Given the description of an element on the screen output the (x, y) to click on. 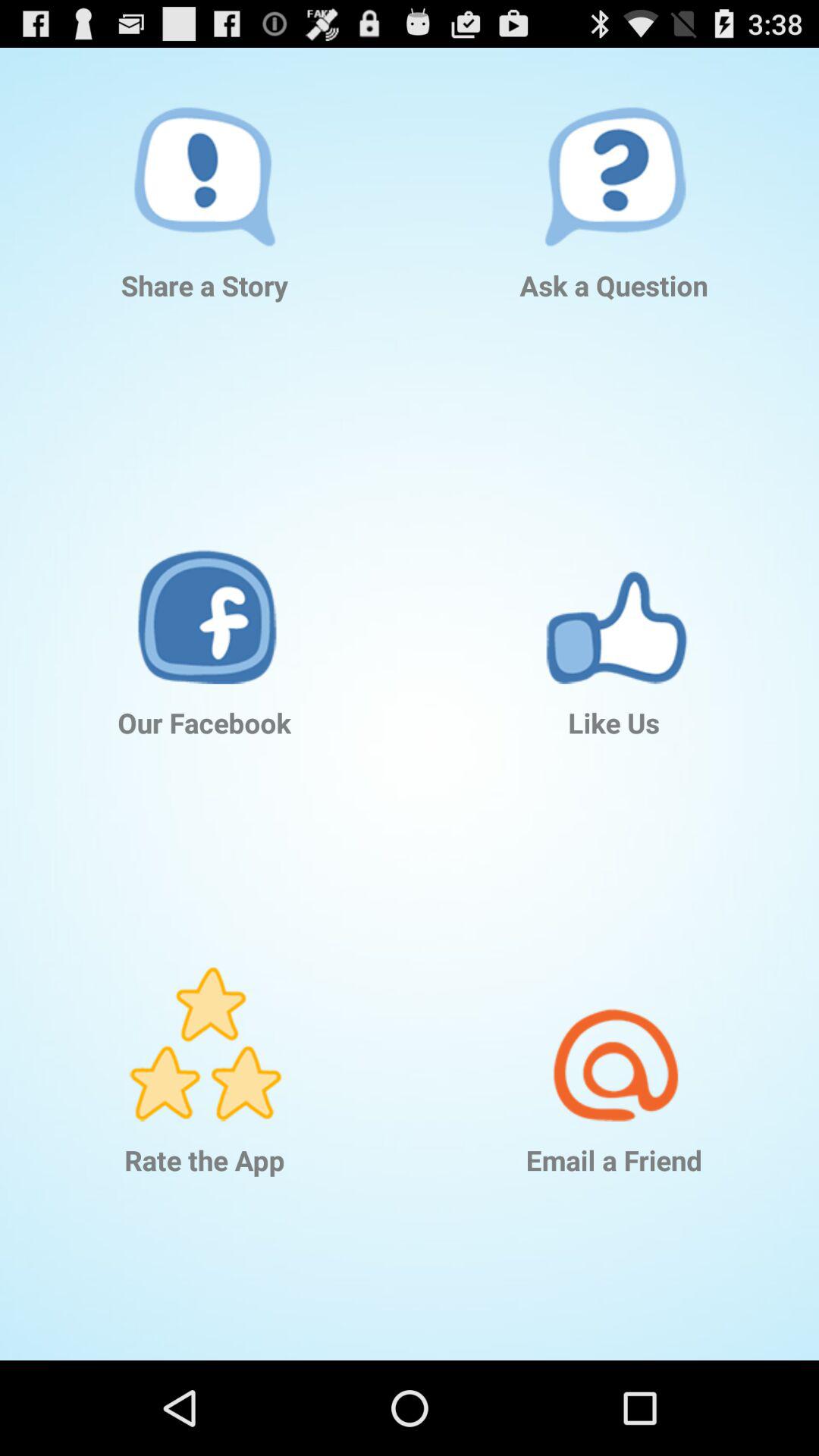
press the icon above the like us (613, 584)
